Given the description of an element on the screen output the (x, y) to click on. 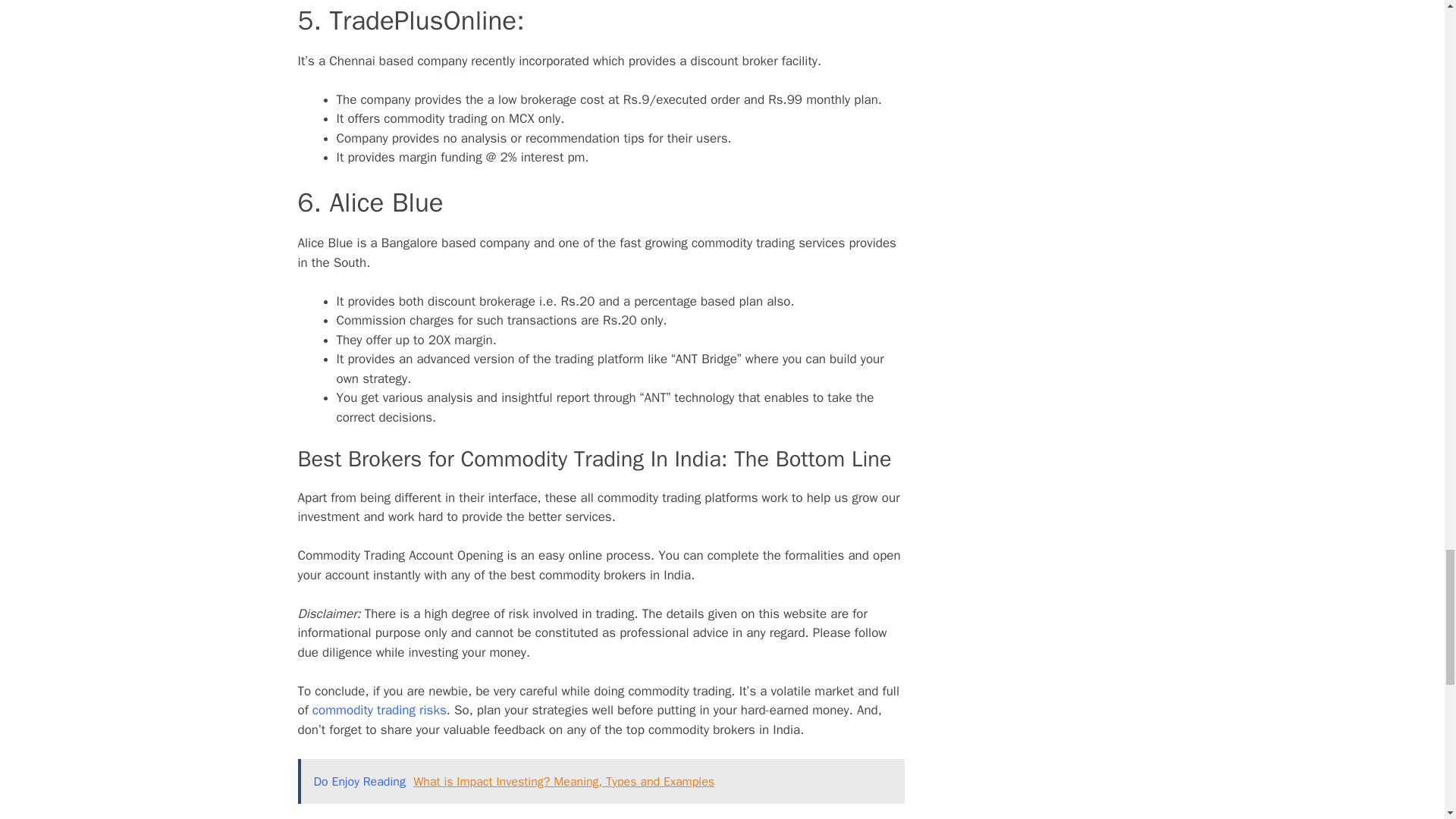
What are Commodity Trading Risks? Ways of Risk Management (379, 709)
commodity trading risks (379, 709)
